Given the description of an element on the screen output the (x, y) to click on. 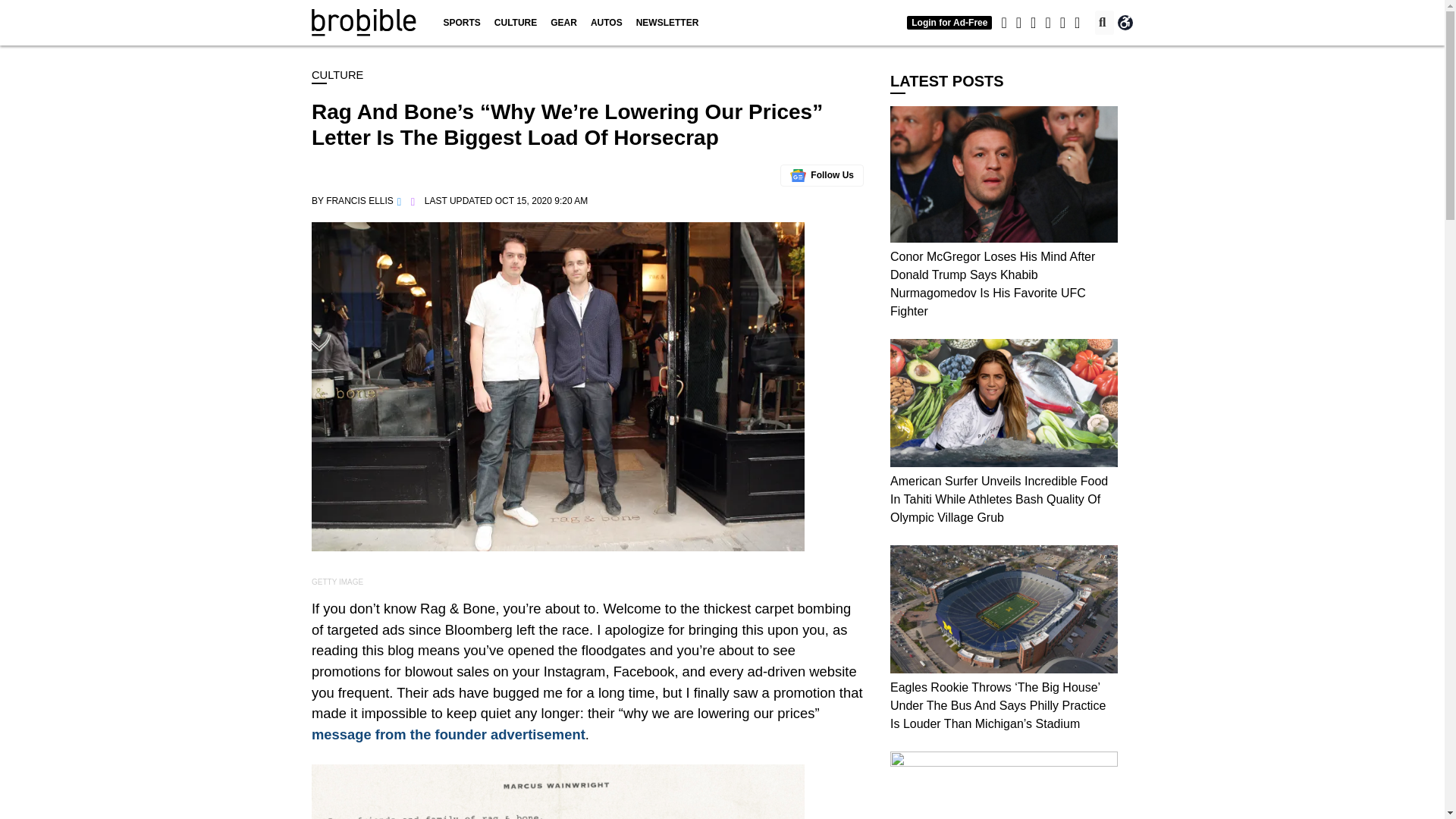
Accessibility (1125, 22)
Login for Ad-Free (949, 22)
Posts by Francis Ellis (359, 200)
SPORTS (460, 22)
CULTURE (515, 22)
Follow us on Google News (821, 175)
